Given the description of an element on the screen output the (x, y) to click on. 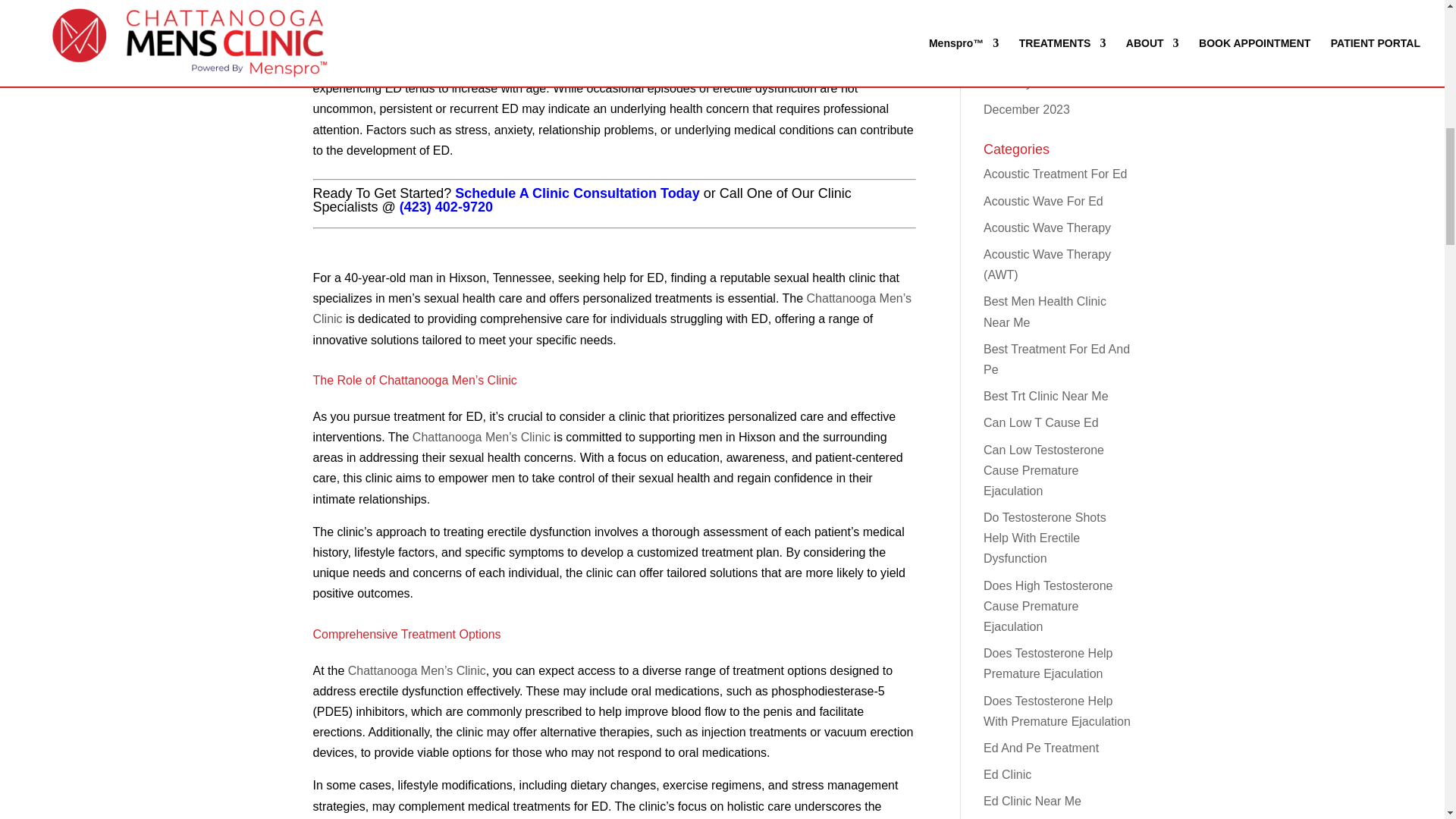
Home Page (416, 670)
Home Page (612, 308)
Home Page (481, 436)
